Given the description of an element on the screen output the (x, y) to click on. 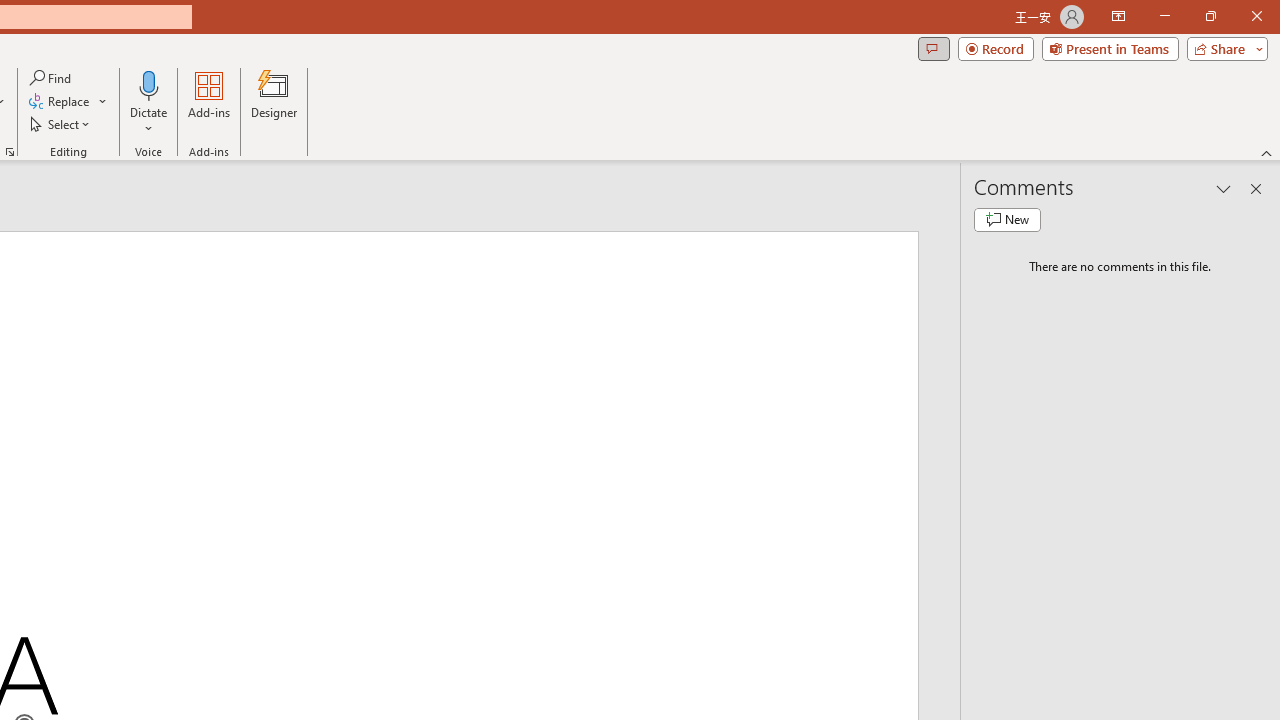
Find... (51, 78)
Designer (274, 102)
New comment (1007, 219)
